Given the description of an element on the screen output the (x, y) to click on. 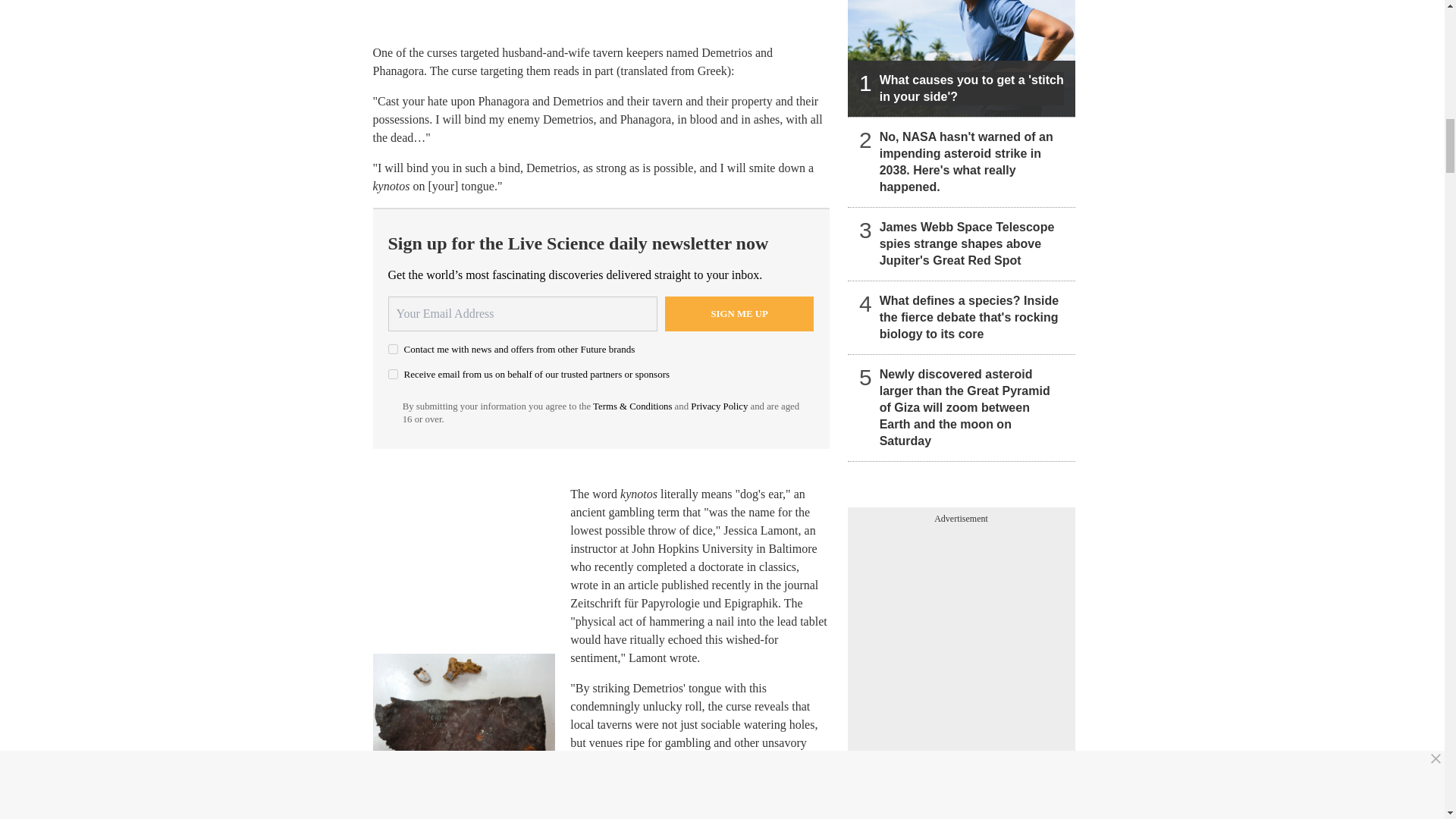
on (392, 374)
on (392, 348)
Sign me up (739, 313)
